Given the description of an element on the screen output the (x, y) to click on. 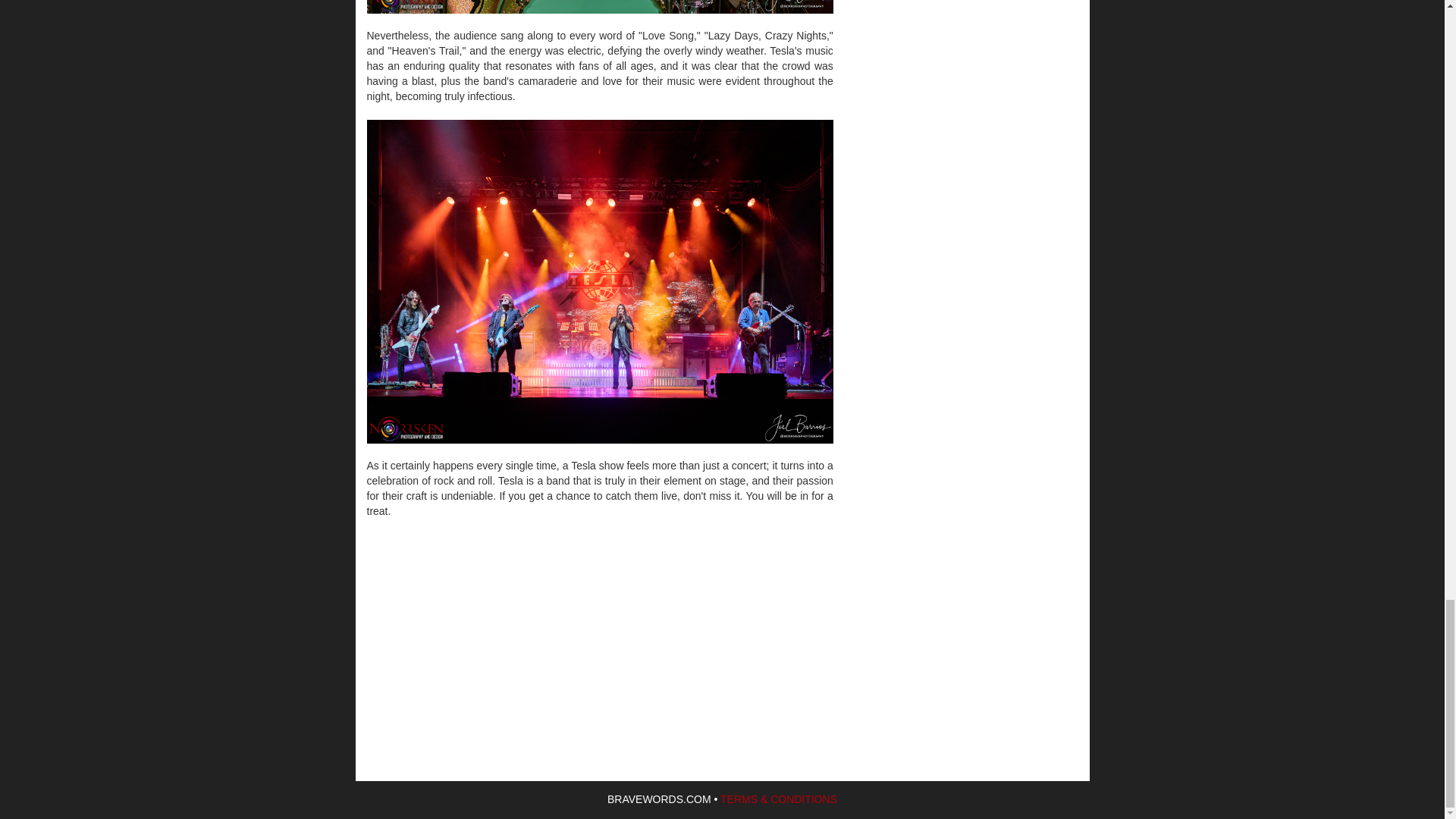
3rd party ad content (599, 628)
